Given the description of an element on the screen output the (x, y) to click on. 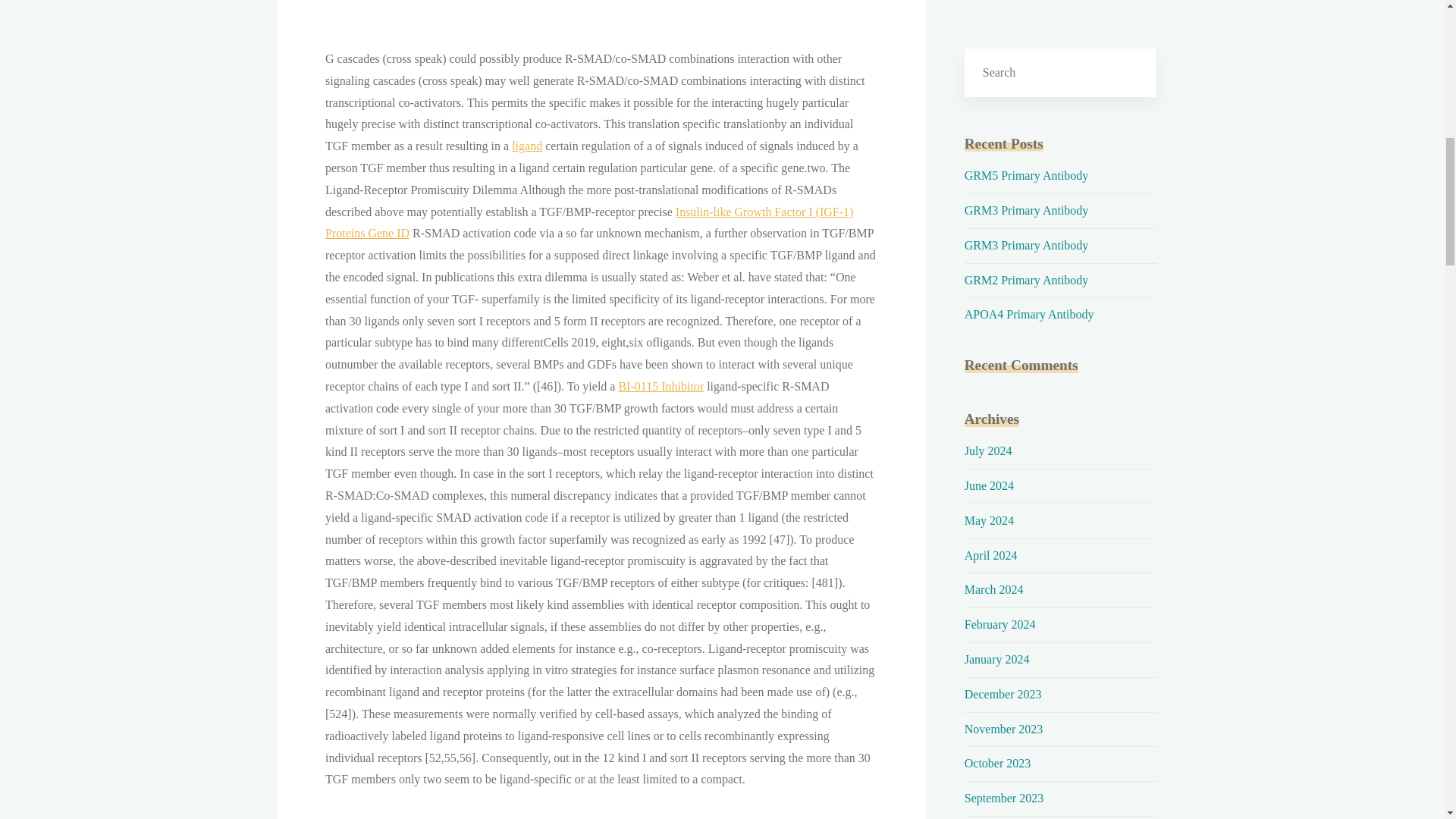
December 2023 (1002, 694)
GRM5 Primary Antibody (1026, 174)
APOA4 Primary Antibody (1028, 314)
April 2024 (990, 554)
March 2024 (993, 589)
January 2024 (996, 658)
June 2024 (988, 485)
October 2023 (996, 762)
November 2023 (1003, 728)
September 2023 (1003, 797)
GRM2 Primary Antibody (1026, 279)
GRM3 Primary Antibody (1026, 210)
Search (1132, 72)
GRM3 Primary Antibody (1026, 245)
BI-0115 Inhibitor (660, 386)
